Given the description of an element on the screen output the (x, y) to click on. 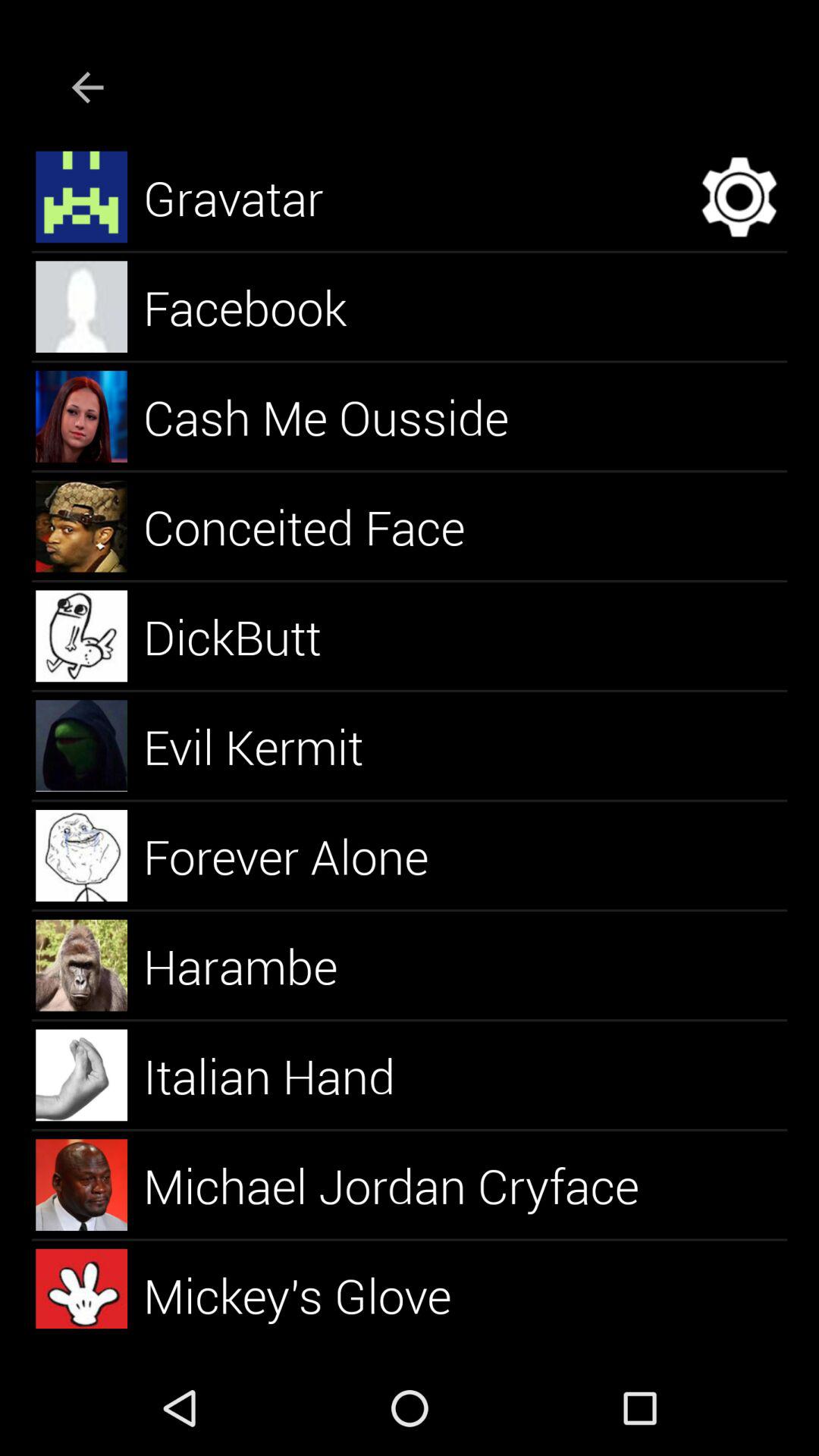
settings (739, 196)
